Given the description of an element on the screen output the (x, y) to click on. 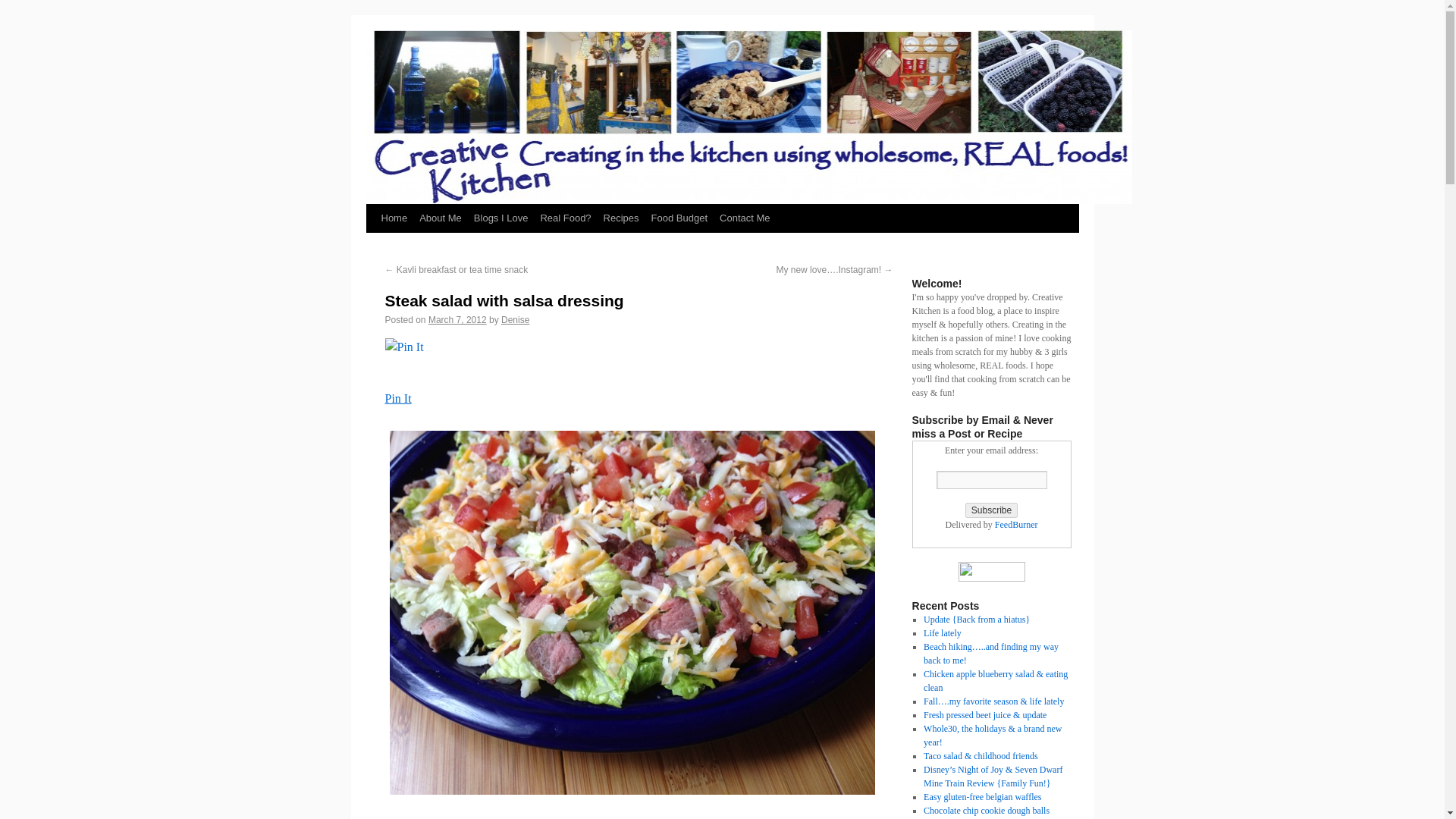
Subscribe (991, 509)
Denise (514, 319)
Contact Me (744, 217)
About Me (440, 217)
Home (393, 217)
March 7, 2012 (457, 319)
Pin It (398, 398)
Recipes (620, 217)
Permalink to Steak salad with salsa dressing (504, 300)
Real Food? (565, 217)
